Given the description of an element on the screen output the (x, y) to click on. 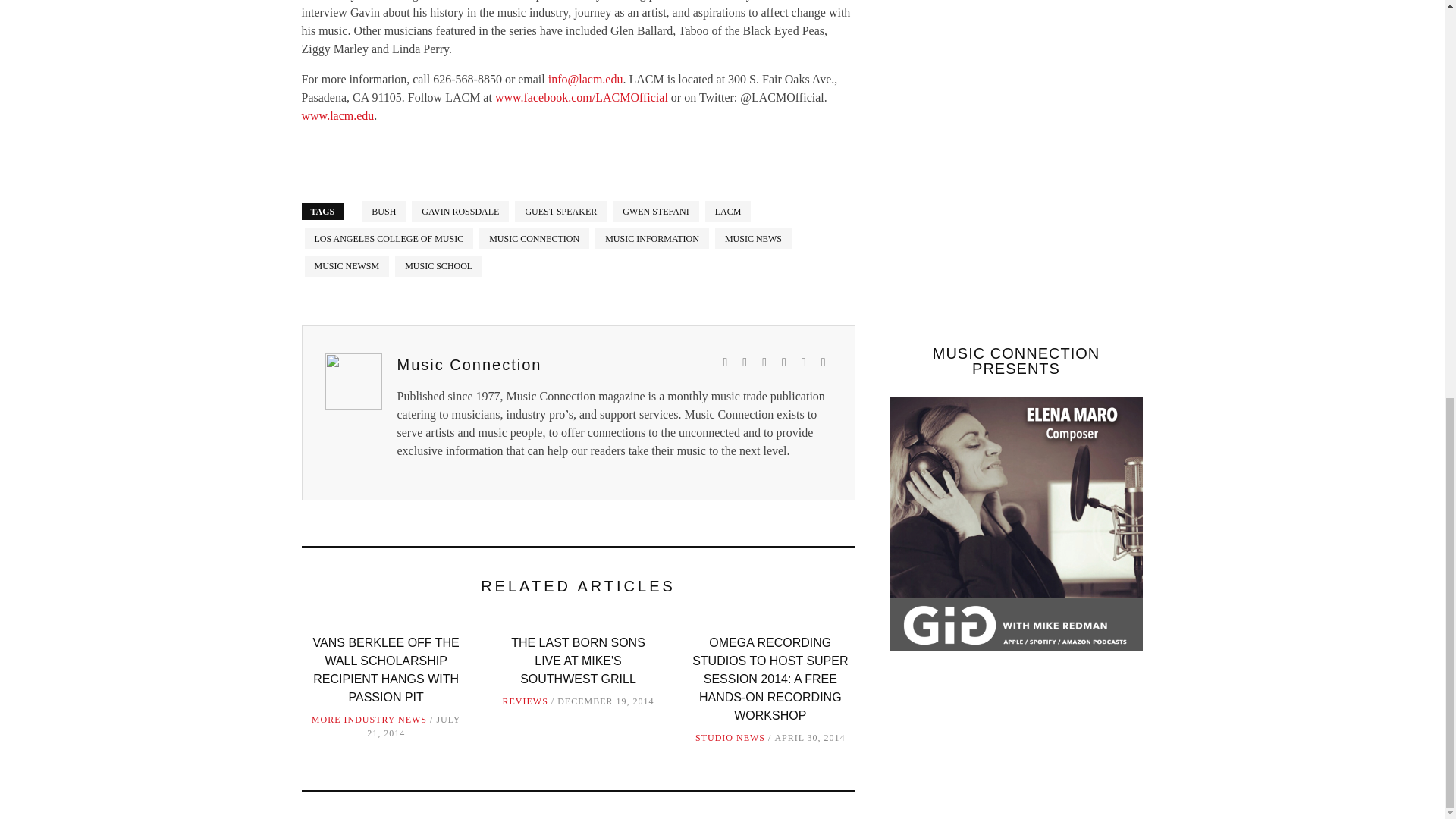
View all posts tagged Gavin Rossdale (460, 210)
View all posts tagged music information (652, 238)
View all posts tagged music connection (534, 238)
View all posts tagged LACM (727, 210)
View all posts tagged music newsm (347, 265)
View all posts tagged music news (753, 238)
View all posts tagged music school (437, 265)
View all posts tagged los angeles college of music (389, 238)
View all posts tagged Bush (383, 210)
View all posts tagged guest speaker (561, 210)
